Given the description of an element on the screen output the (x, y) to click on. 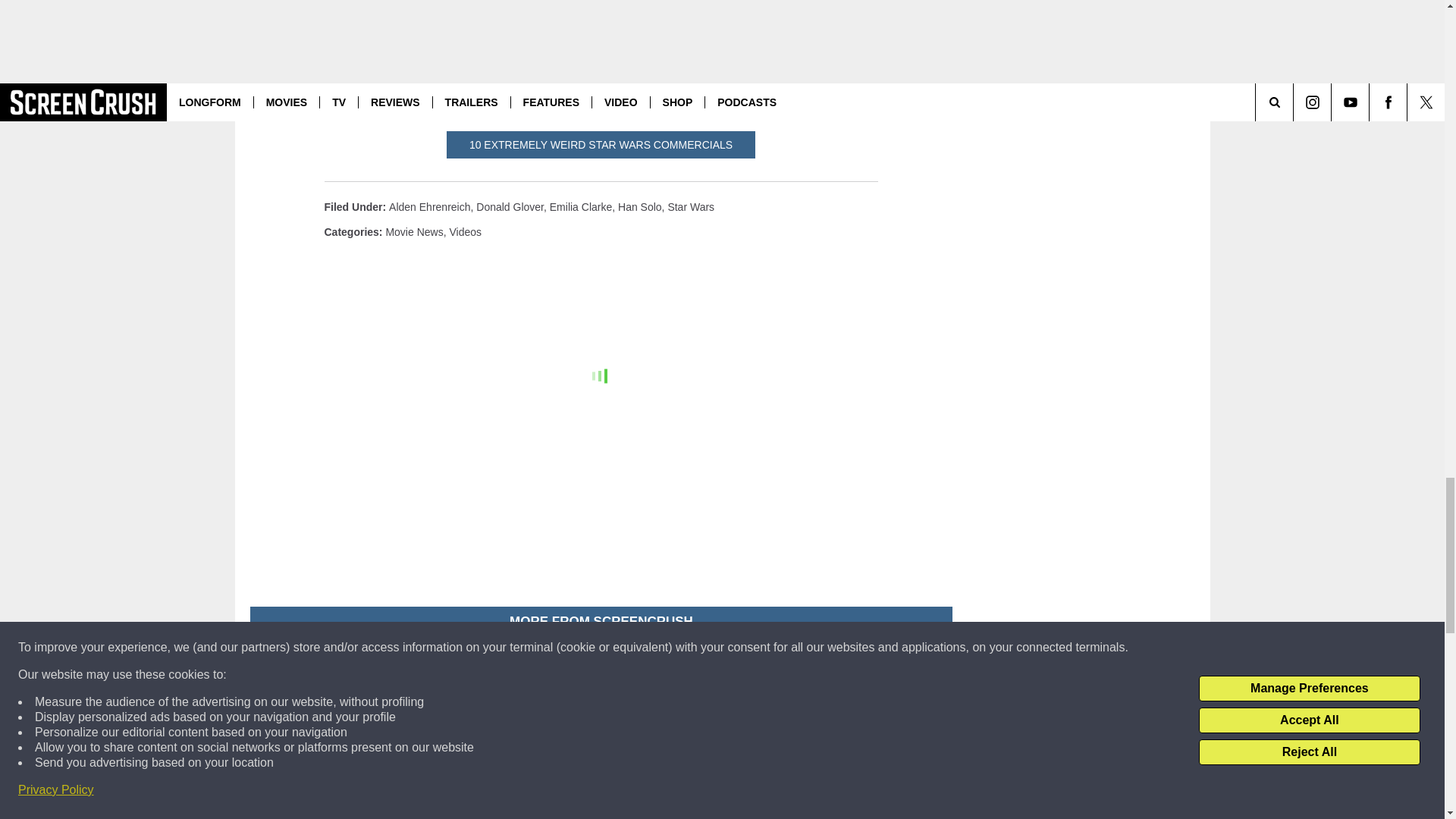
10 EXTREMELY WEIRD STAR WARS COMMERCIALS (600, 144)
Alden Ehrenreich (429, 206)
Emilia Clarke (580, 206)
Donald Glover (509, 206)
Han Solo (639, 206)
